Given the description of an element on the screen output the (x, y) to click on. 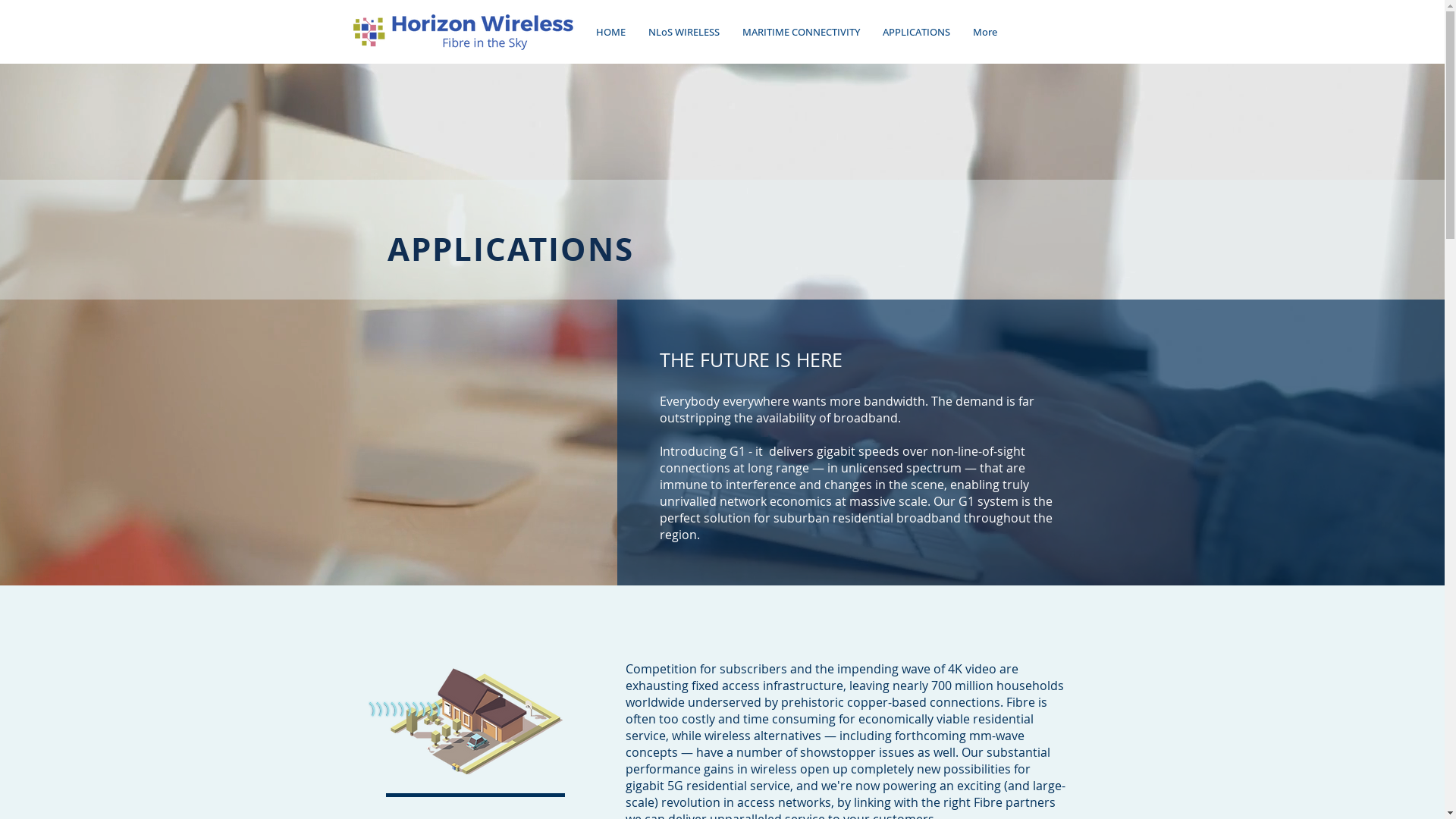
HOME Element type: text (609, 31)
NLoS WIRELESS Element type: text (684, 31)
APPLICATIONS Element type: text (915, 31)
MARITIME CONNECTIVITY Element type: text (801, 31)
